Given the description of an element on the screen output the (x, y) to click on. 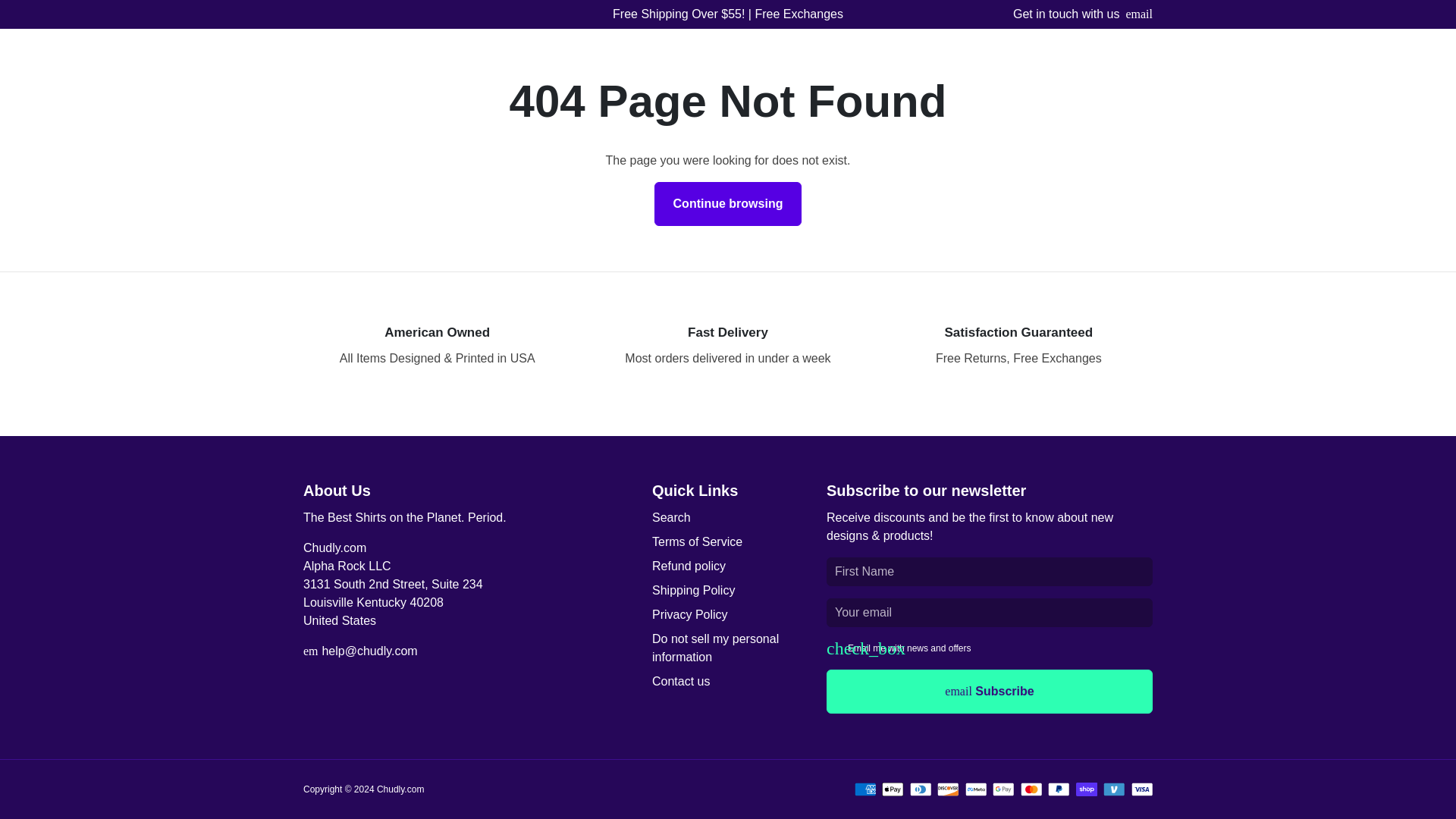
Google Pay (1003, 789)
email (1139, 13)
Diners Club (920, 789)
Apple Pay (893, 789)
Search (956, 54)
Discover (948, 789)
Cart (1108, 54)
Meta Pay (974, 789)
American Express (864, 789)
Shop Pay (1085, 789)
PayPal (1059, 789)
Mastercard (1031, 789)
Venmo (1114, 789)
Visa (1142, 789)
